Given the description of an element on the screen output the (x, y) to click on. 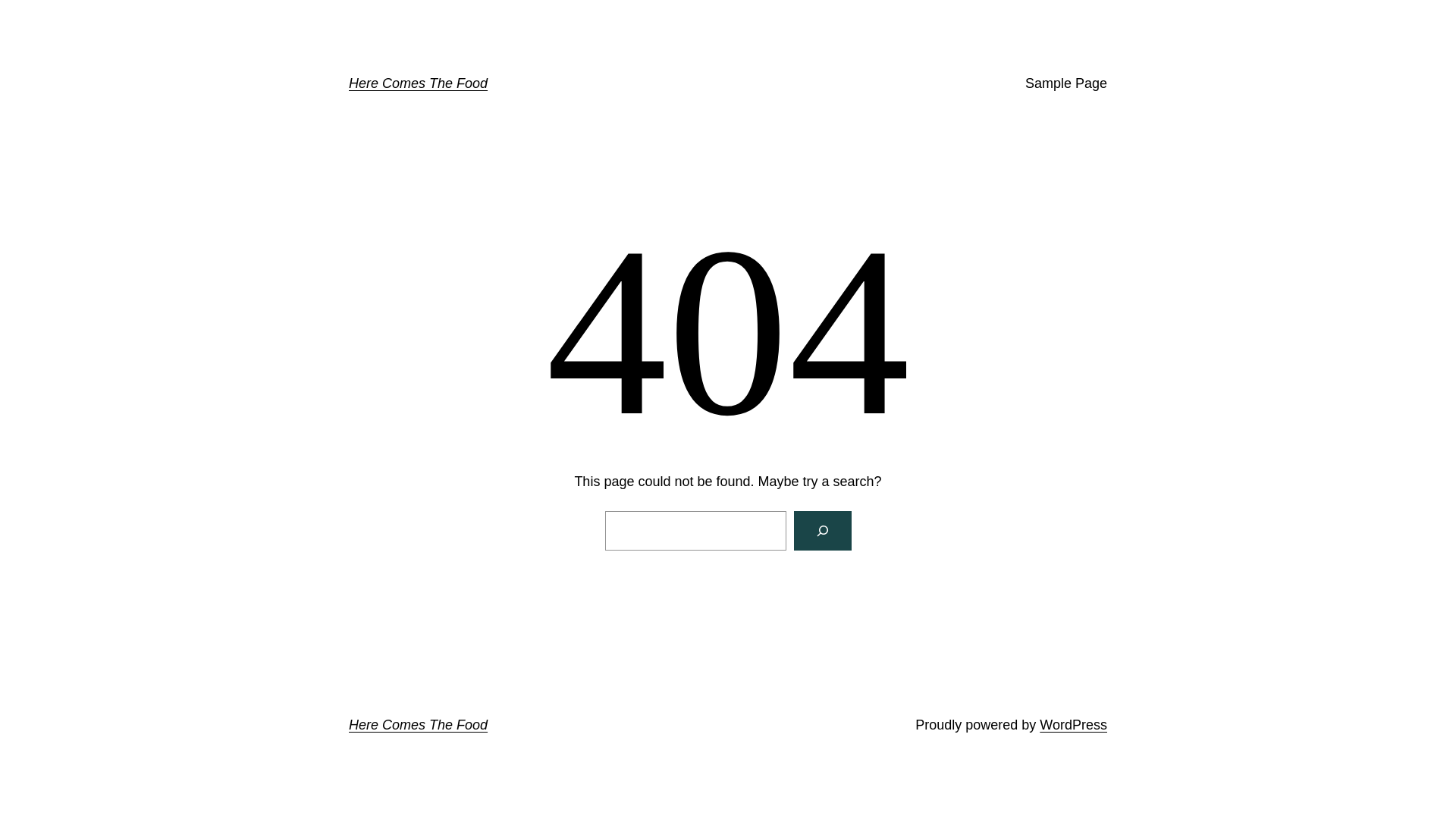
WordPress Element type: text (1073, 724)
Sample Page Element type: text (1066, 83)
Here Comes The Food Element type: text (417, 83)
Here Comes The Food Element type: text (417, 724)
